Given the description of an element on the screen output the (x, y) to click on. 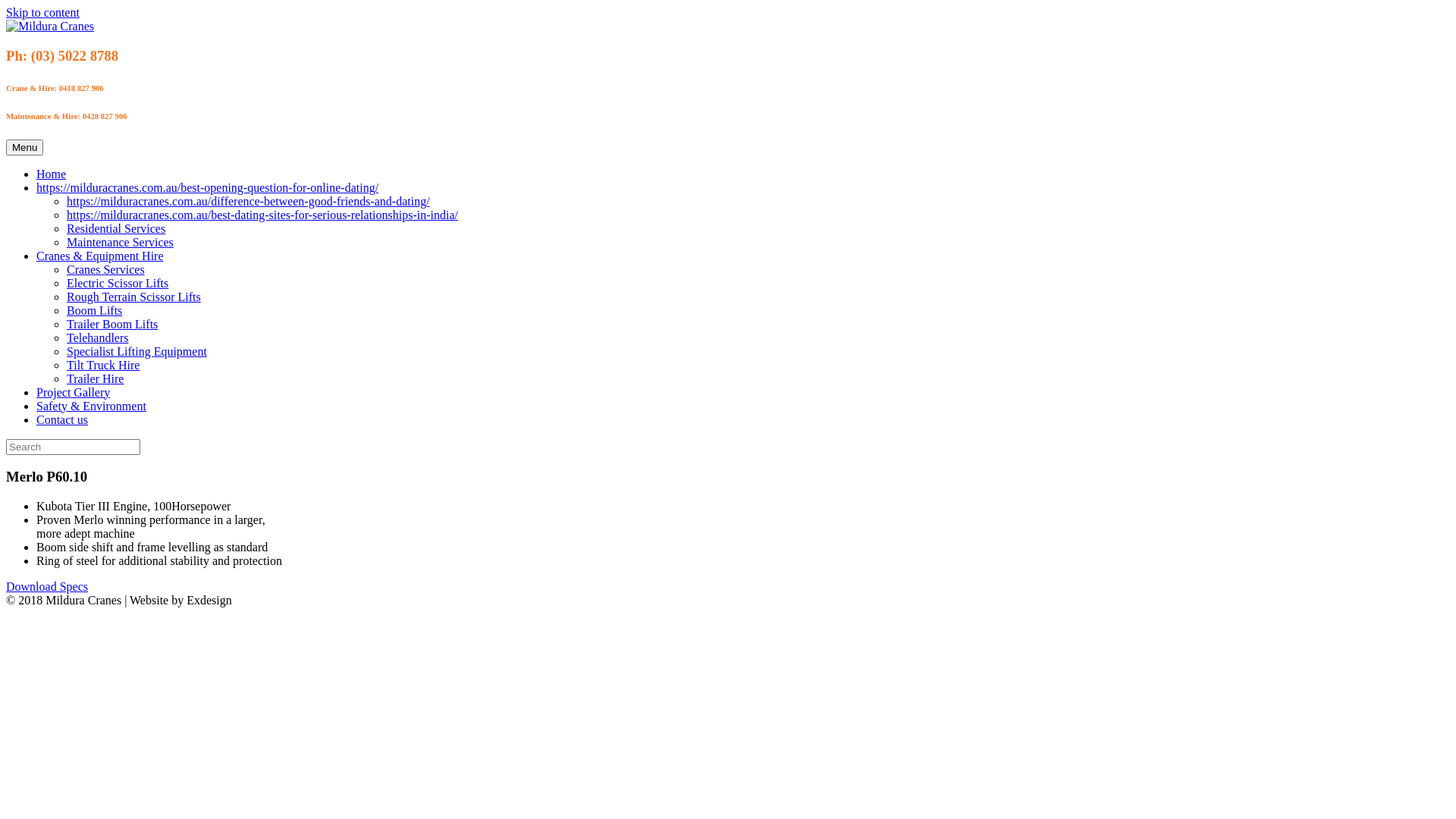
Home Element type: text (50, 173)
Trailer Hire Element type: text (94, 378)
Boom Lifts Element type: text (94, 310)
Skip to content Element type: text (42, 12)
Menu Element type: text (24, 147)
Specialist Lifting Equipment Element type: text (136, 351)
Maintenance Services Element type: text (119, 241)
Project Gallery Element type: text (72, 391)
Rough Terrain Scissor Lifts Element type: text (133, 296)
Electric Scissor Lifts Element type: text (117, 282)
Cranes Services Element type: text (105, 269)
Safety & Environment Element type: text (91, 405)
Contact us Element type: text (61, 419)
Telehandlers Element type: text (97, 337)
Download Specs Element type: text (46, 586)
Trailer Boom Lifts Element type: text (111, 323)
Cranes & Equipment Hire Element type: text (99, 255)
Tilt Truck Hire Element type: text (102, 364)
Type and press Enter to search. Element type: hover (727, 447)
Residential Services Element type: text (115, 228)
